Given the description of an element on the screen output the (x, y) to click on. 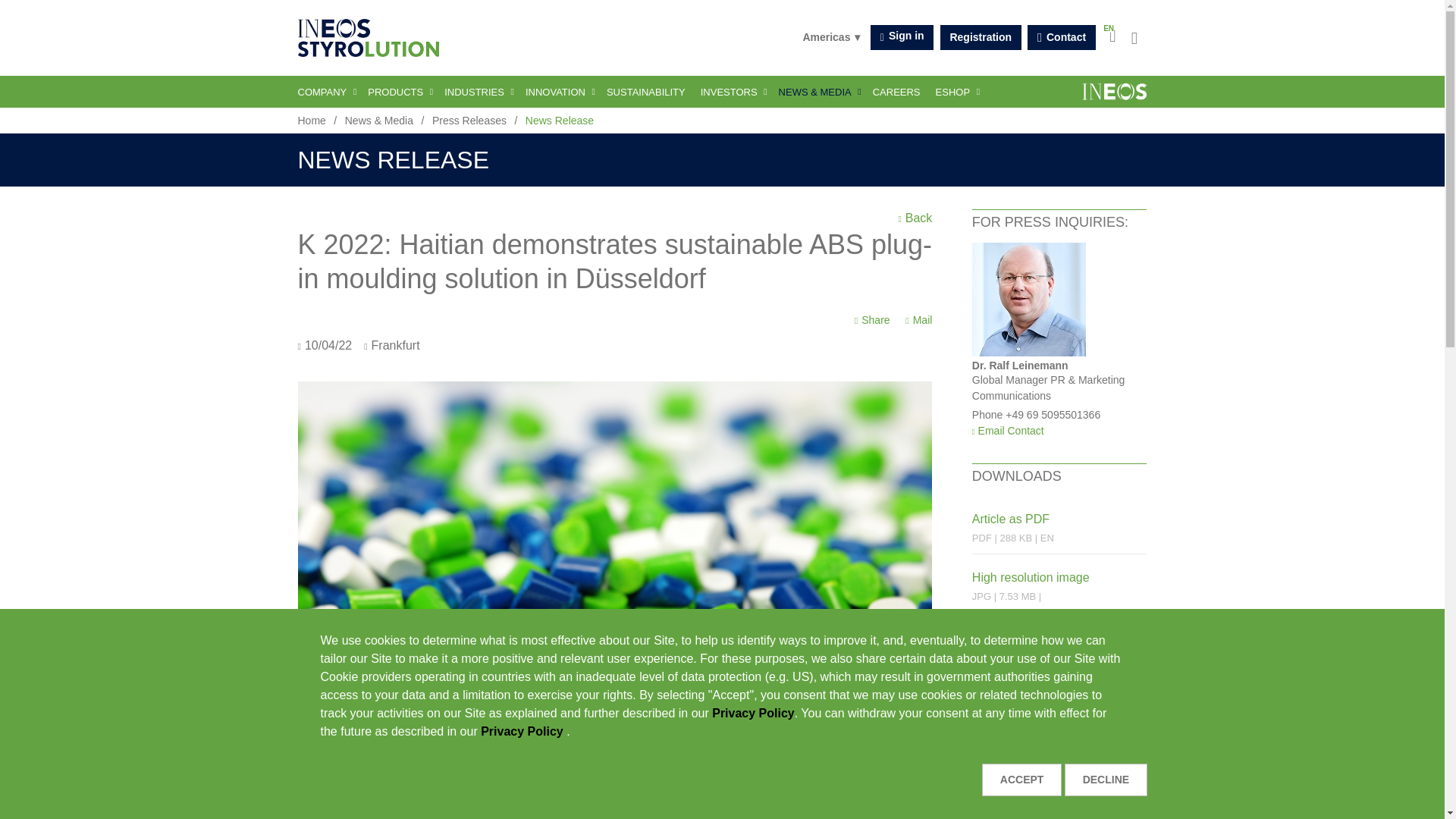
Privacy Policy (752, 712)
Americas (830, 37)
PRODUCTS (397, 91)
Contact (1060, 37)
DECLINE (1105, 779)
Registration (981, 37)
Sign in (901, 37)
COMPANY (328, 91)
ACCEPT (1021, 779)
Privacy Policy (523, 730)
